Given the description of an element on the screen output the (x, y) to click on. 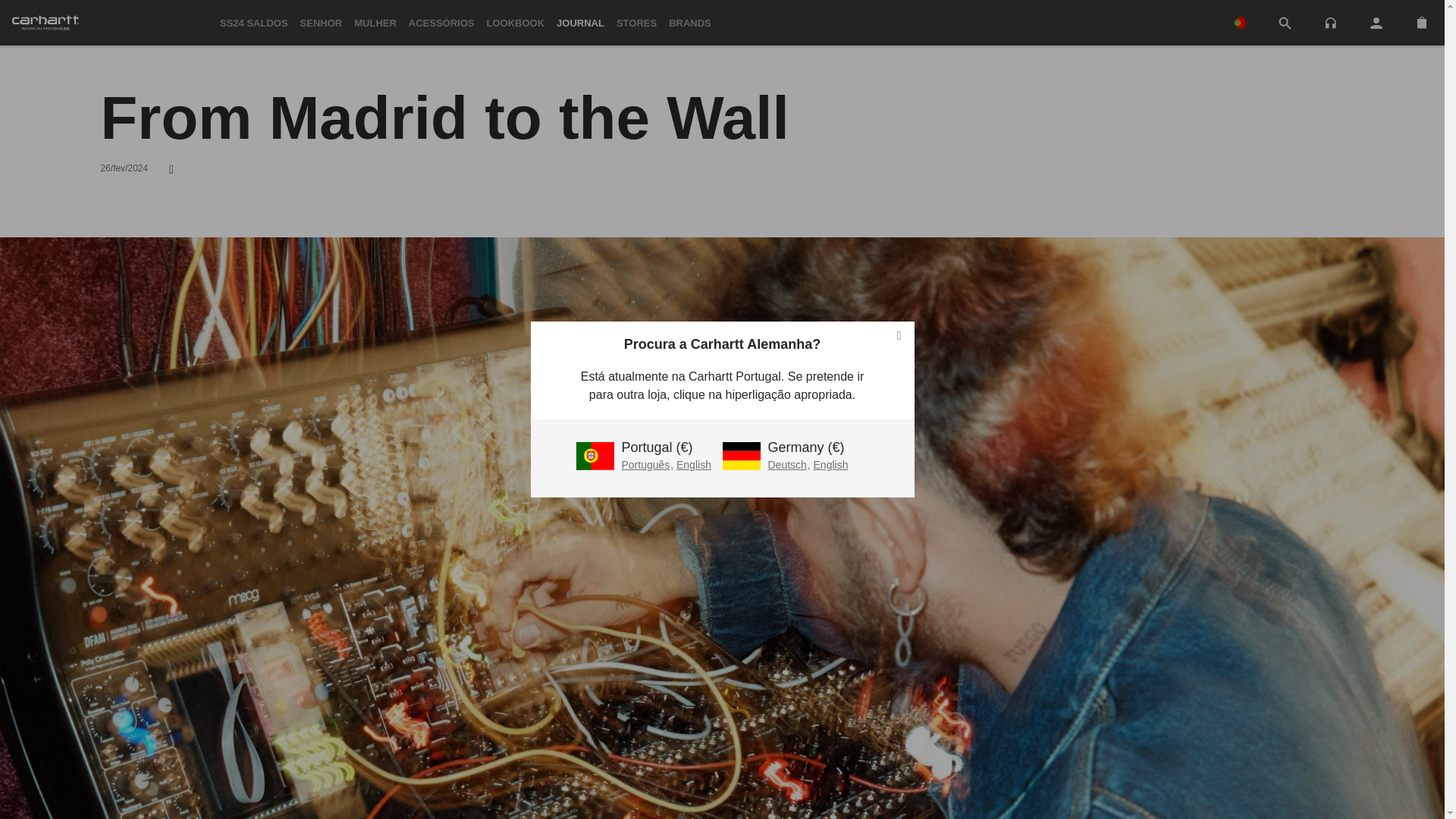
Pesquisa aqui (1284, 22)
Radio (1330, 21)
Radio (1330, 22)
Pesquisa aqui (1285, 23)
